Given the description of an element on the screen output the (x, y) to click on. 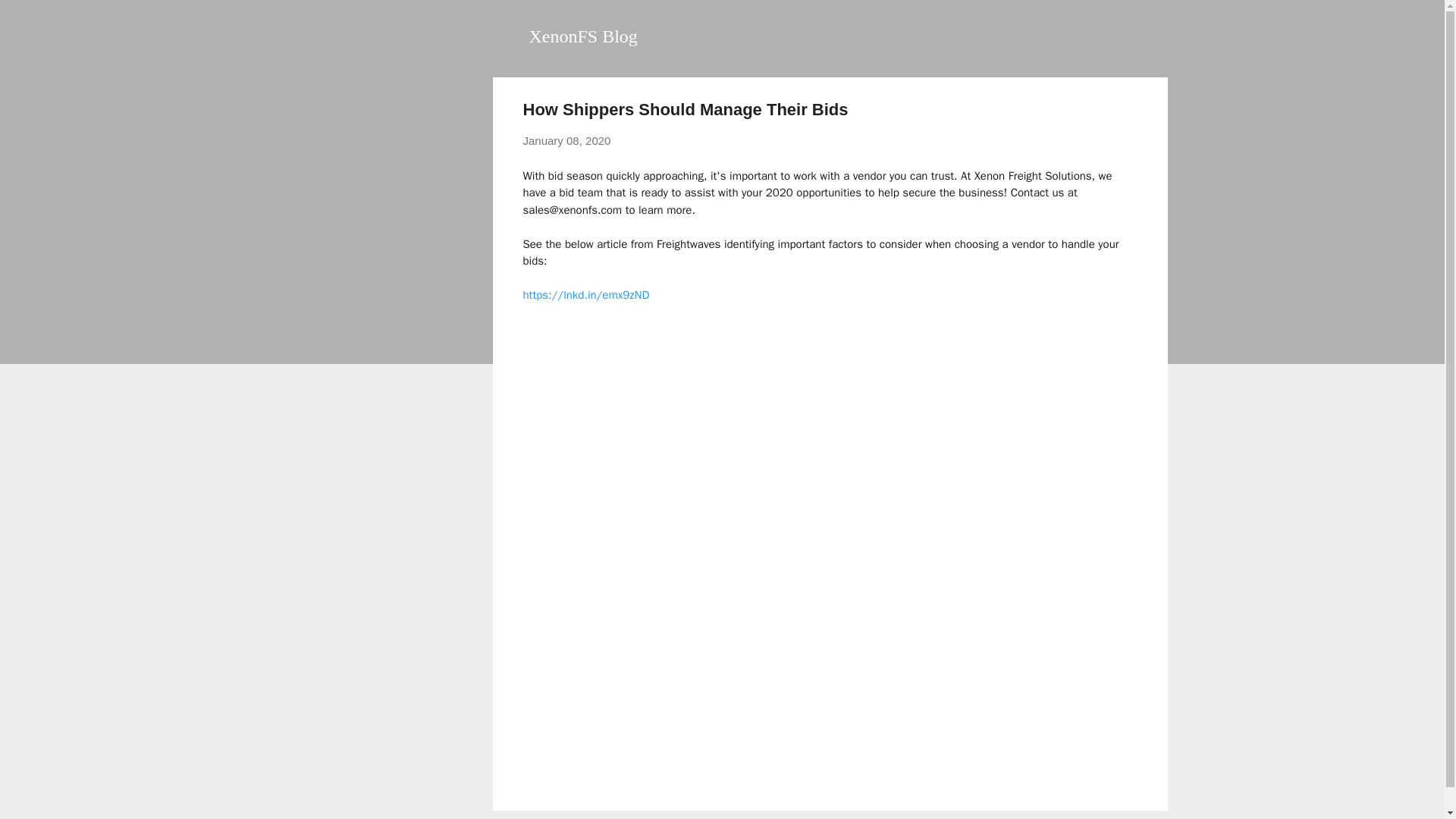
permanent link (566, 140)
Search (29, 18)
XenonFS Blog (583, 35)
January 08, 2020 (566, 140)
